Given the description of an element on the screen output the (x, y) to click on. 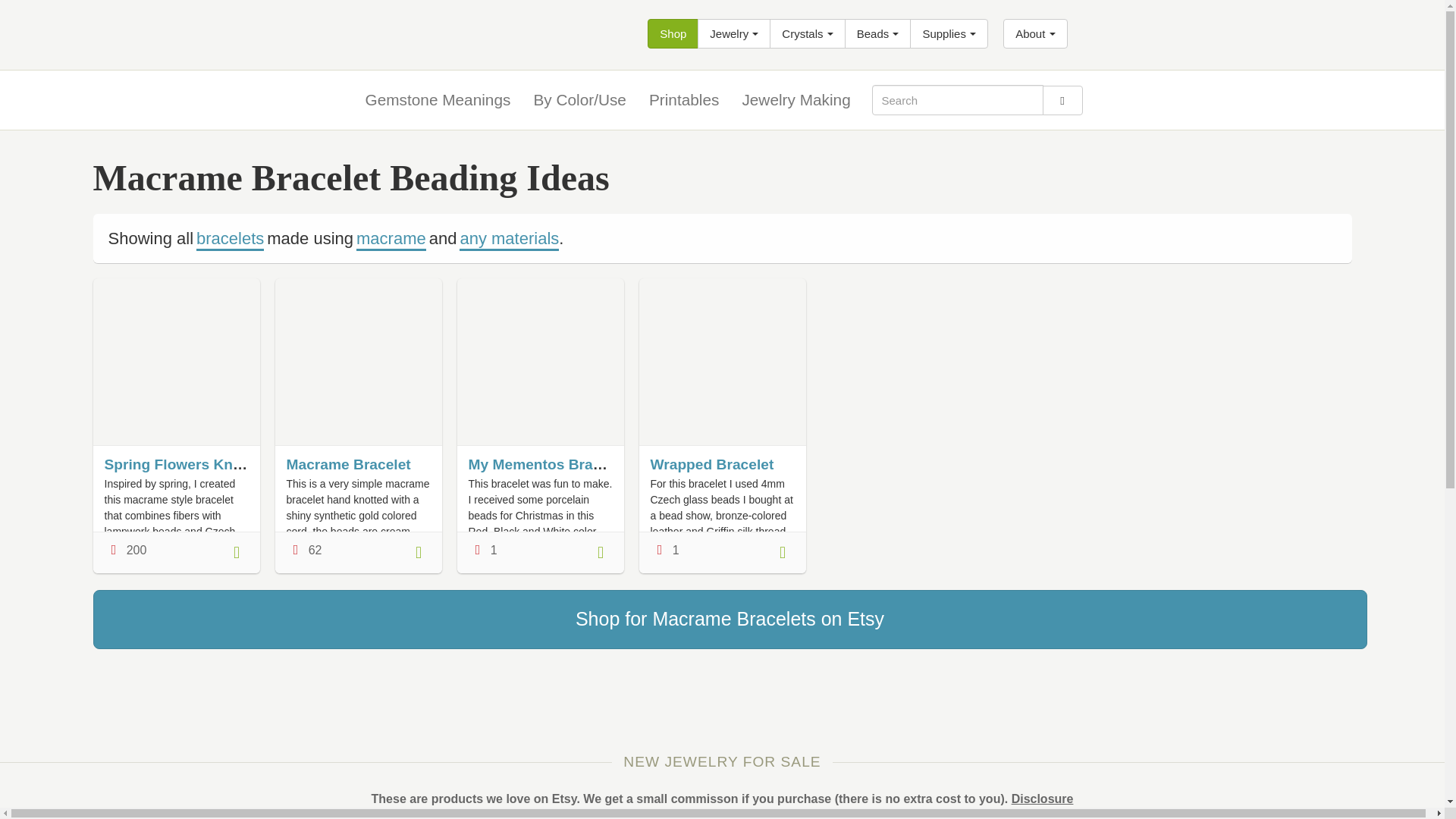
Jewelry (733, 33)
Shop (672, 33)
Jewelry (733, 33)
About (1035, 33)
